Given the description of an element on the screen output the (x, y) to click on. 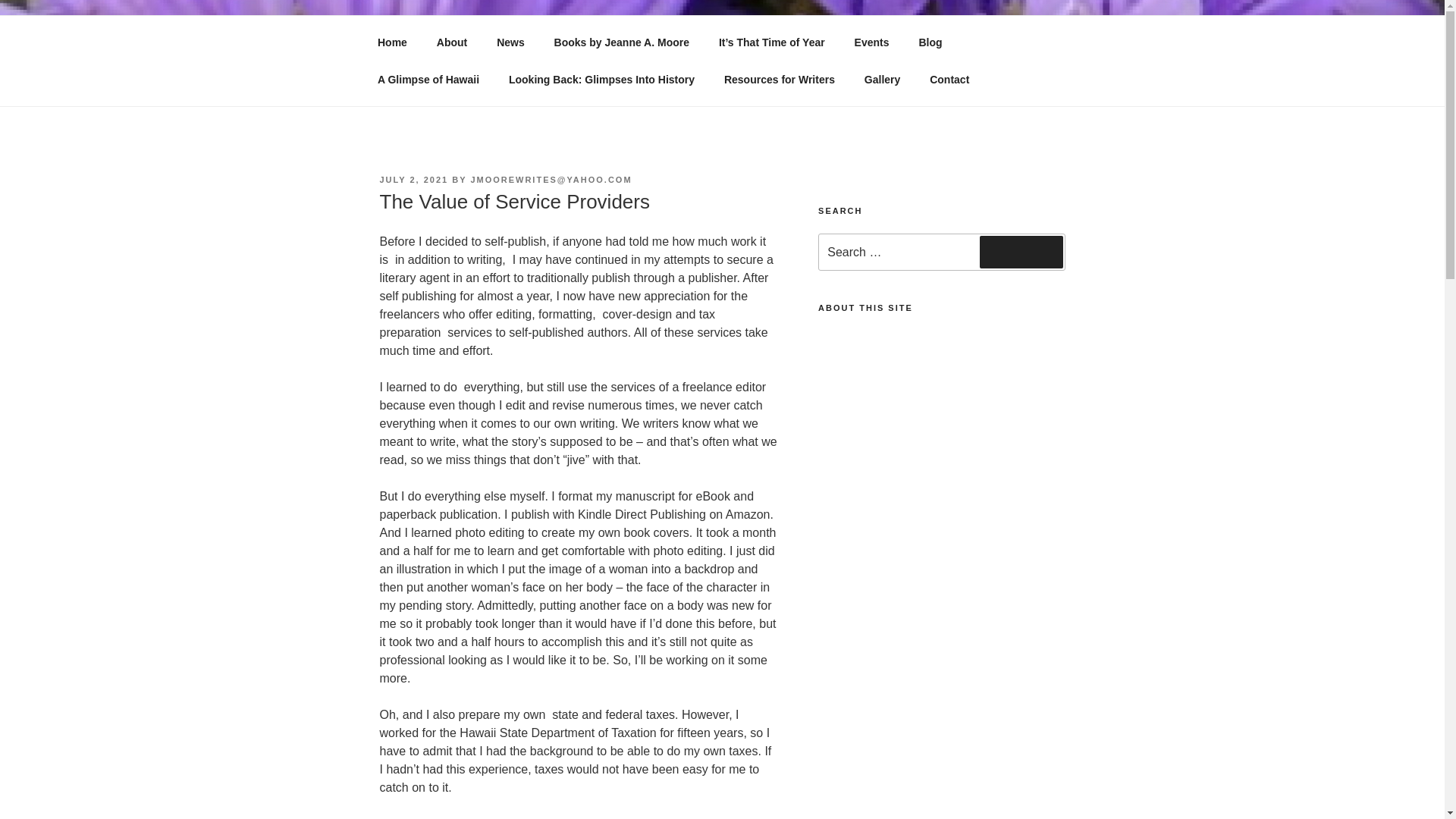
JEANNE MOORE WRITES (566, 52)
A Glimpse of Hawaii (428, 78)
JULY 2, 2021 (413, 179)
Books by Jeanne A. Moore (620, 42)
Gallery (881, 78)
News (510, 42)
Looking Back: Glimpses Into History (601, 78)
Search (1020, 251)
Resources for Writers (778, 78)
Contact (949, 78)
Events (871, 42)
Blog (930, 42)
About (451, 42)
Home (392, 42)
